Given the description of an element on the screen output the (x, y) to click on. 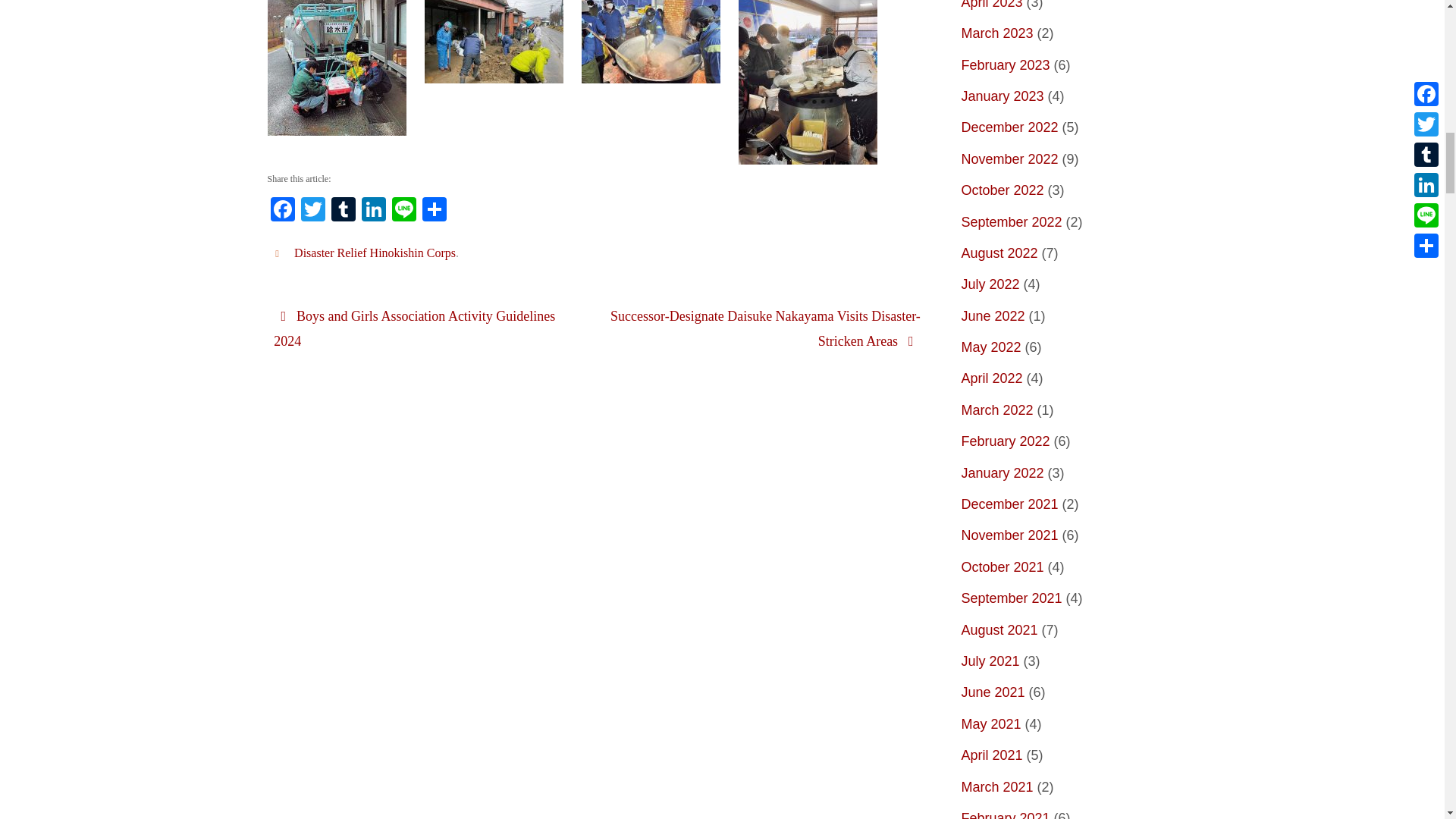
Boys and Girls Association Activity Guidelines 2024 (427, 328)
Tumblr (342, 211)
Facebook (281, 211)
Facebook (281, 211)
LinkedIn (373, 211)
Line (403, 211)
Twitter (312, 211)
Twitter (312, 211)
Line (403, 211)
